Given the description of an element on the screen output the (x, y) to click on. 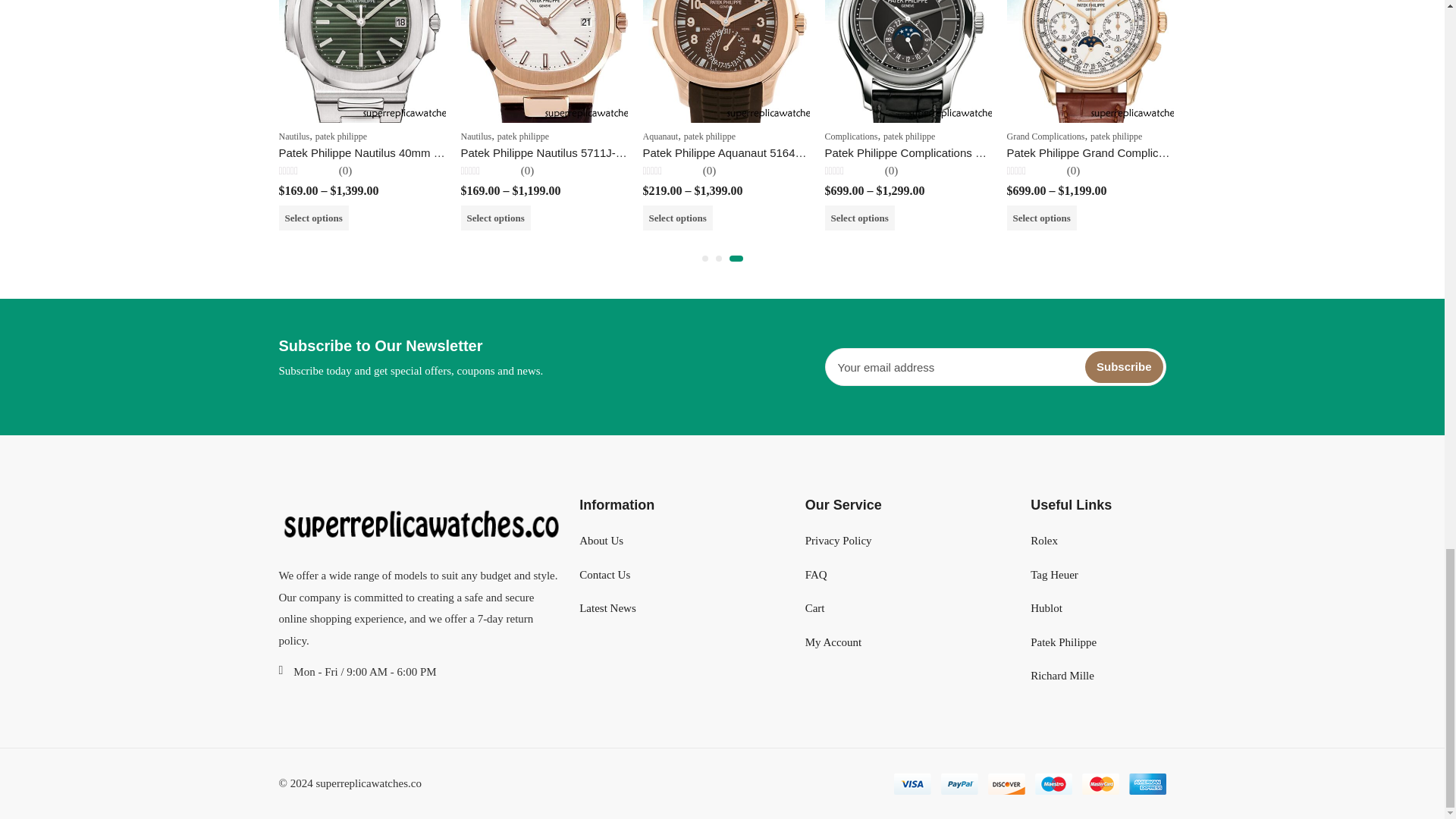
Subscribe (1123, 367)
